Given the description of an element on the screen output the (x, y) to click on. 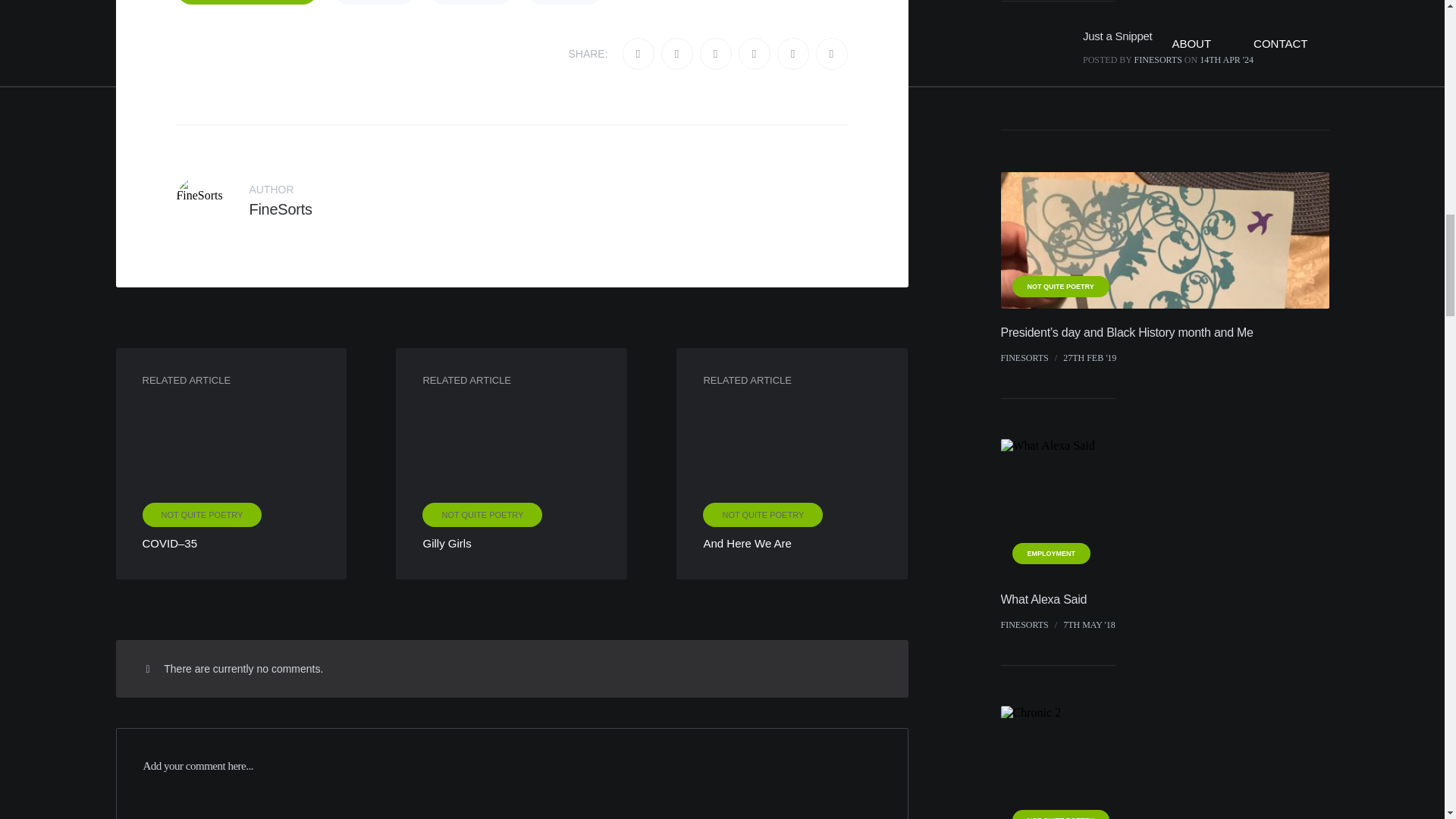
GIRLS (470, 2)
BLOG (374, 2)
Google Plus (716, 53)
Reddit (754, 53)
LinkedIn (831, 53)
Pinterest (793, 53)
Facebook (511, 463)
LIFE (677, 53)
Twitter (564, 2)
